Given the description of an element on the screen output the (x, y) to click on. 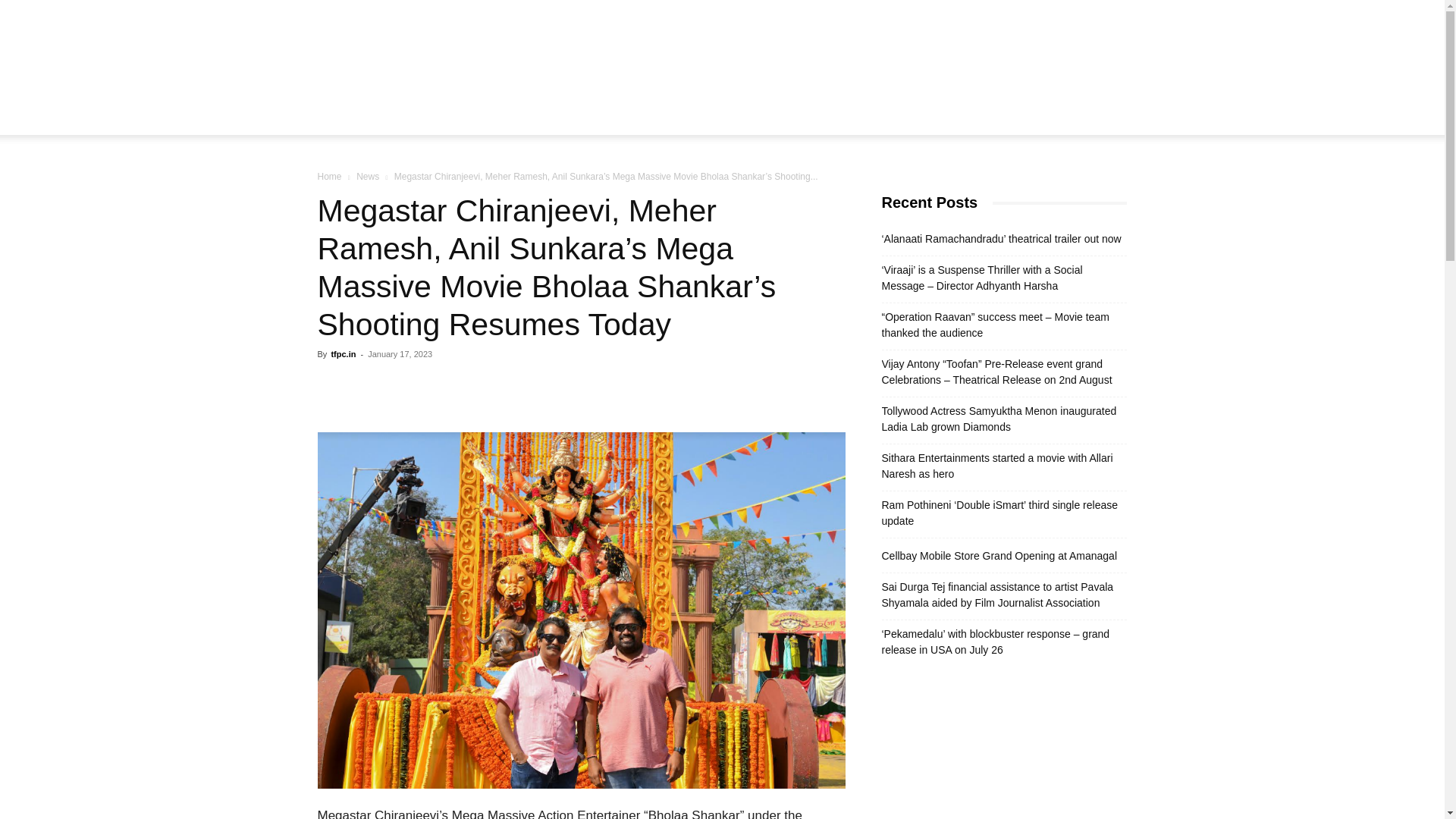
PHOTOS (650, 116)
VIDEOS (714, 116)
NEWS (502, 116)
HOME (449, 116)
View all posts in News (367, 176)
VIDEO NEWS (572, 116)
tfpc (721, 49)
